Given the description of an element on the screen output the (x, y) to click on. 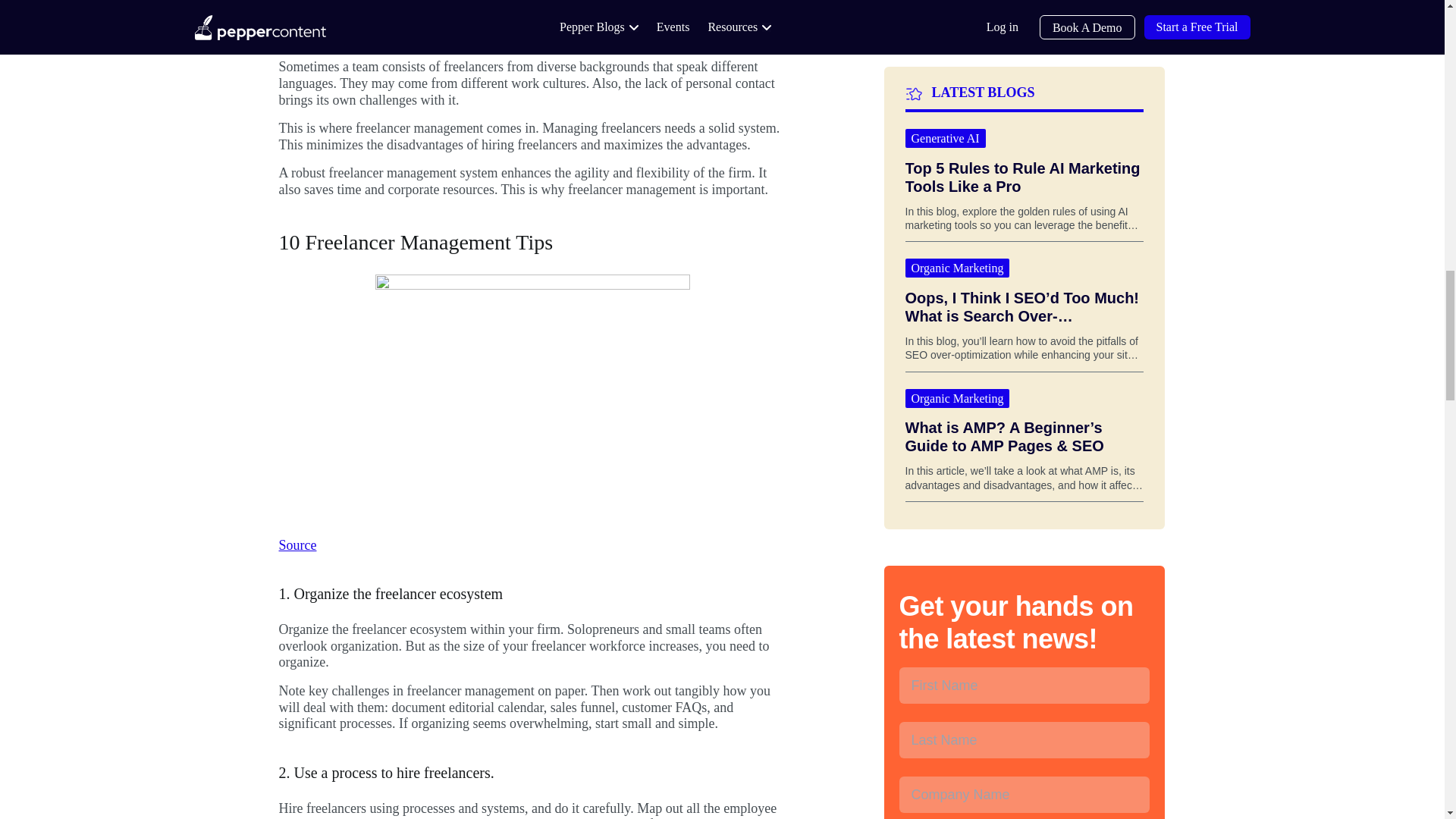
Source (298, 9)
Source (298, 544)
